Given the description of an element on the screen output the (x, y) to click on. 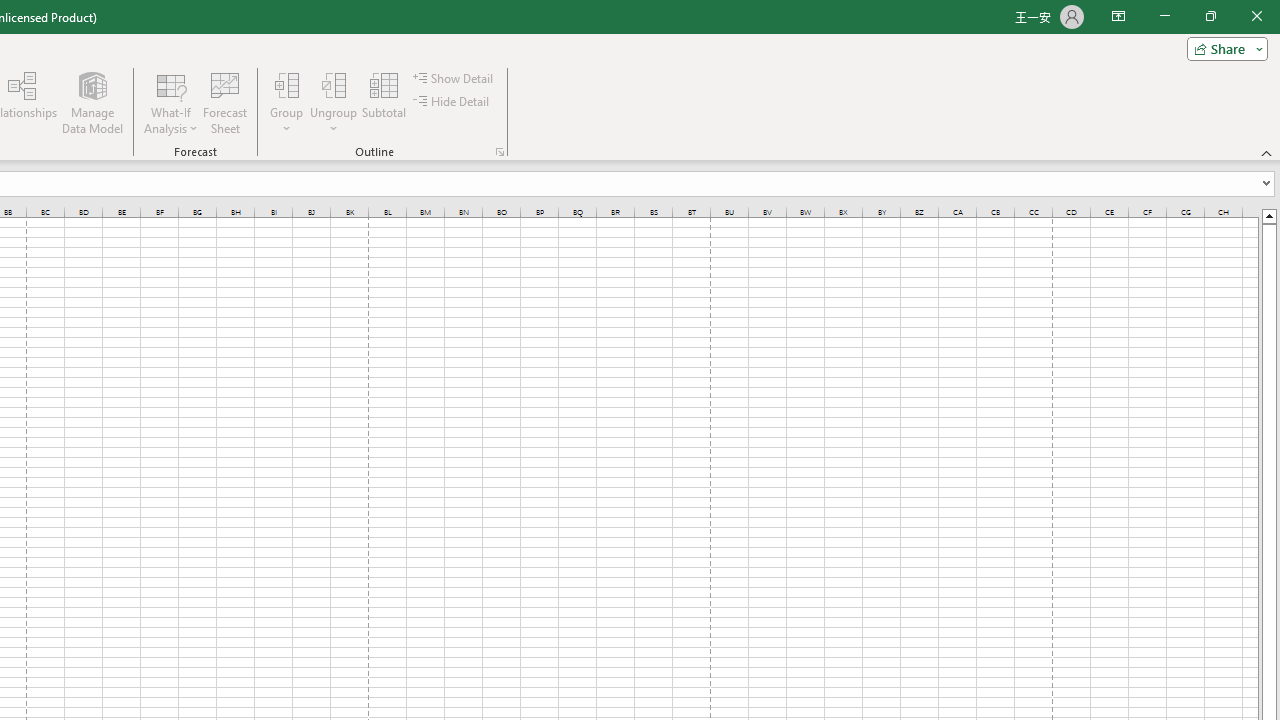
Subtotal (384, 102)
What-If Analysis (171, 102)
Group and Outline Settings (499, 151)
Show Detail (454, 78)
Hide Detail (452, 101)
